Given the description of an element on the screen output the (x, y) to click on. 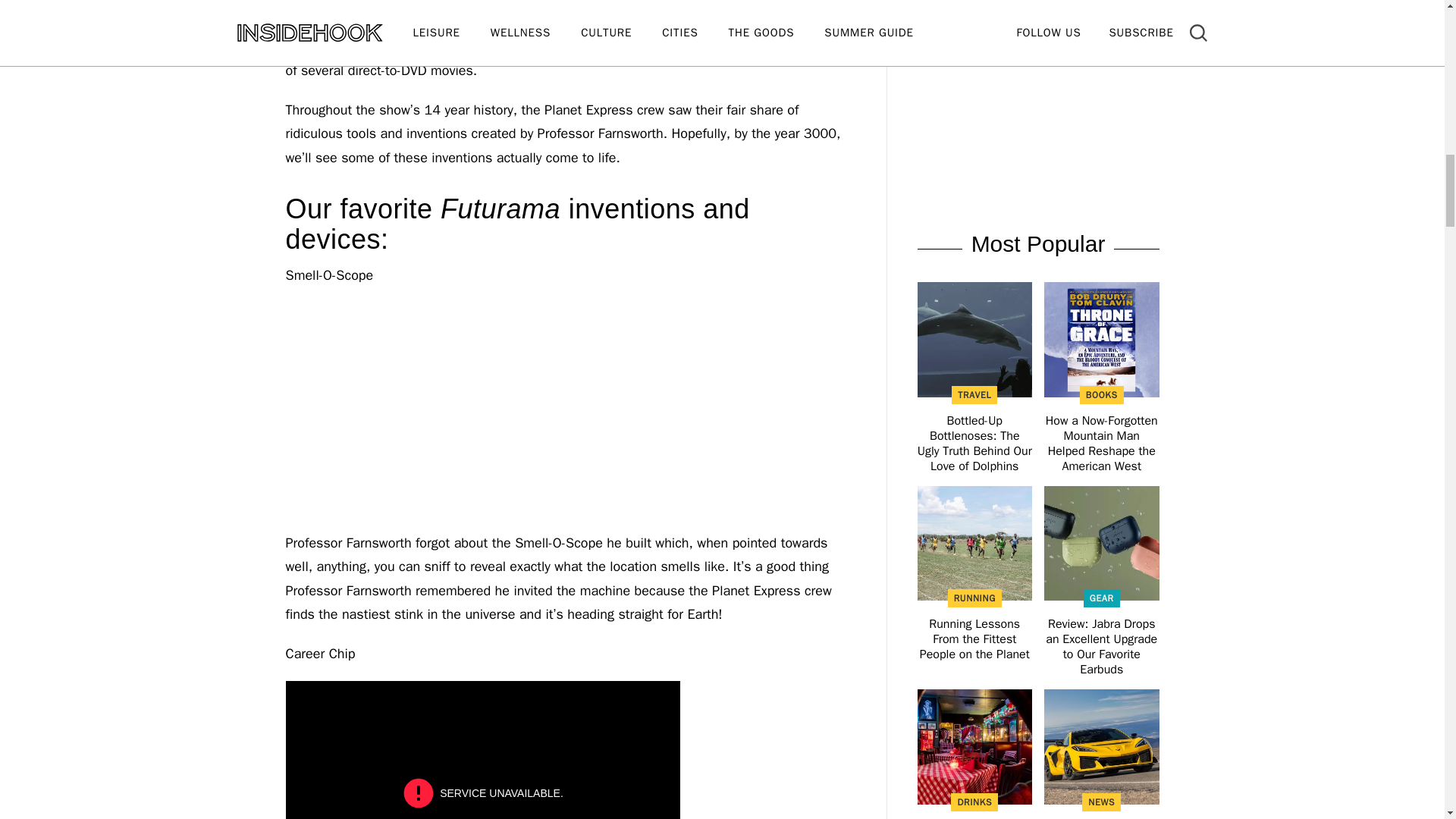
3rd party ad content (1037, 15)
